Given the description of an element on the screen output the (x, y) to click on. 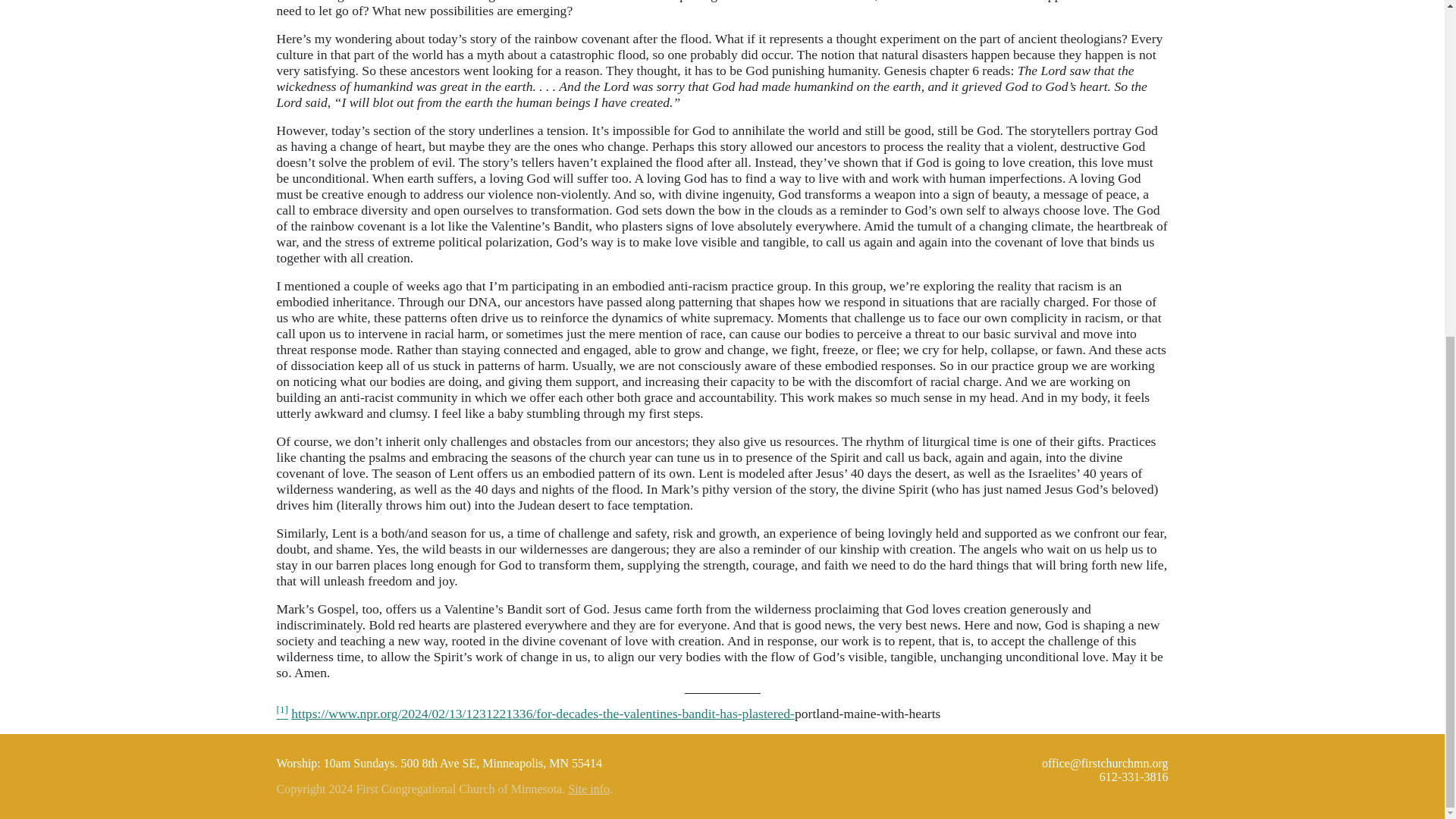
500 8th Ave SE, Minneapolis, MN 55414 (501, 762)
612-331-3816 (1134, 776)
Site info (588, 788)
